Given the description of an element on the screen output the (x, y) to click on. 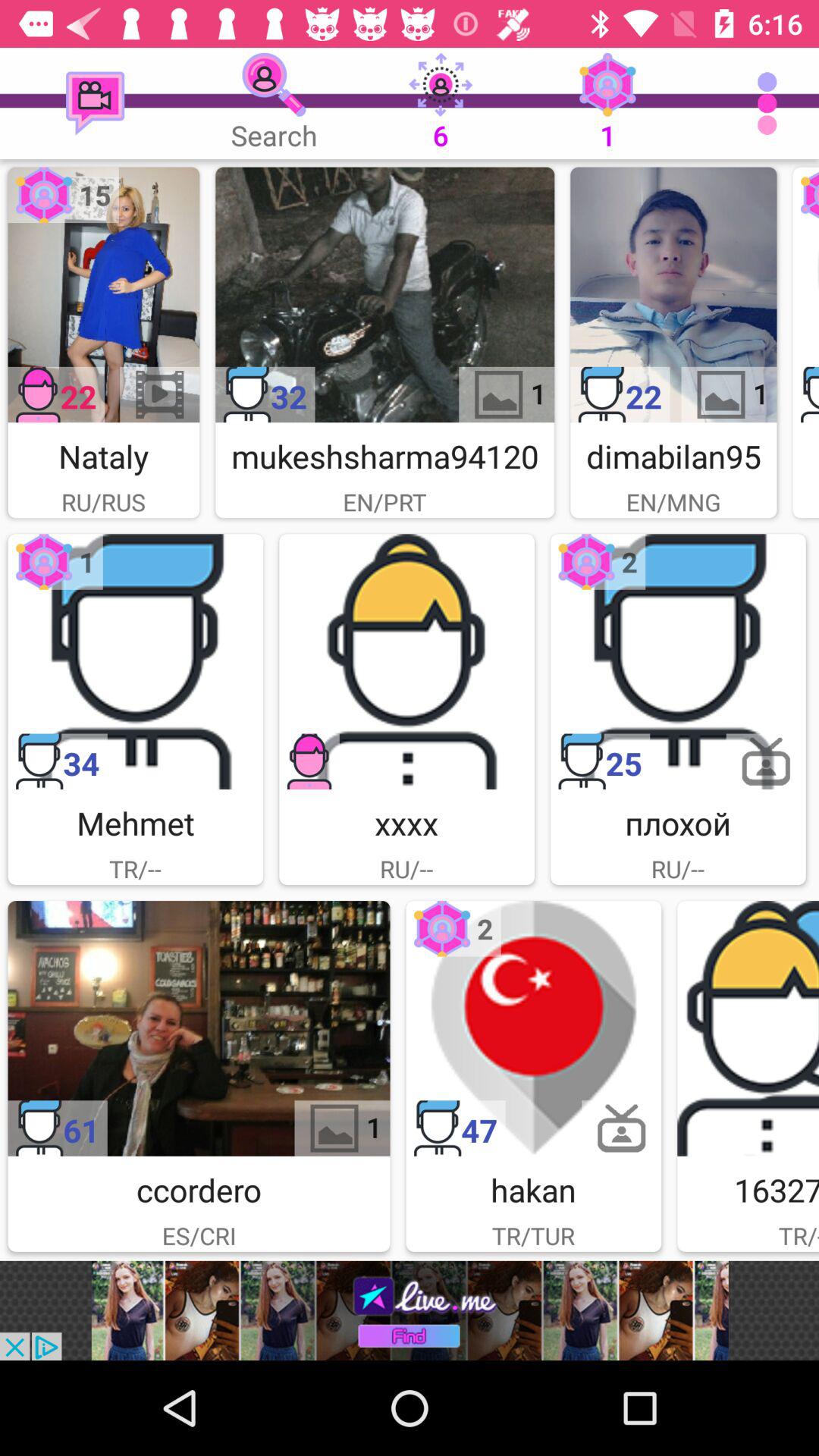
mukeshsharma94120 icon (384, 294)
